Given the description of an element on the screen output the (x, y) to click on. 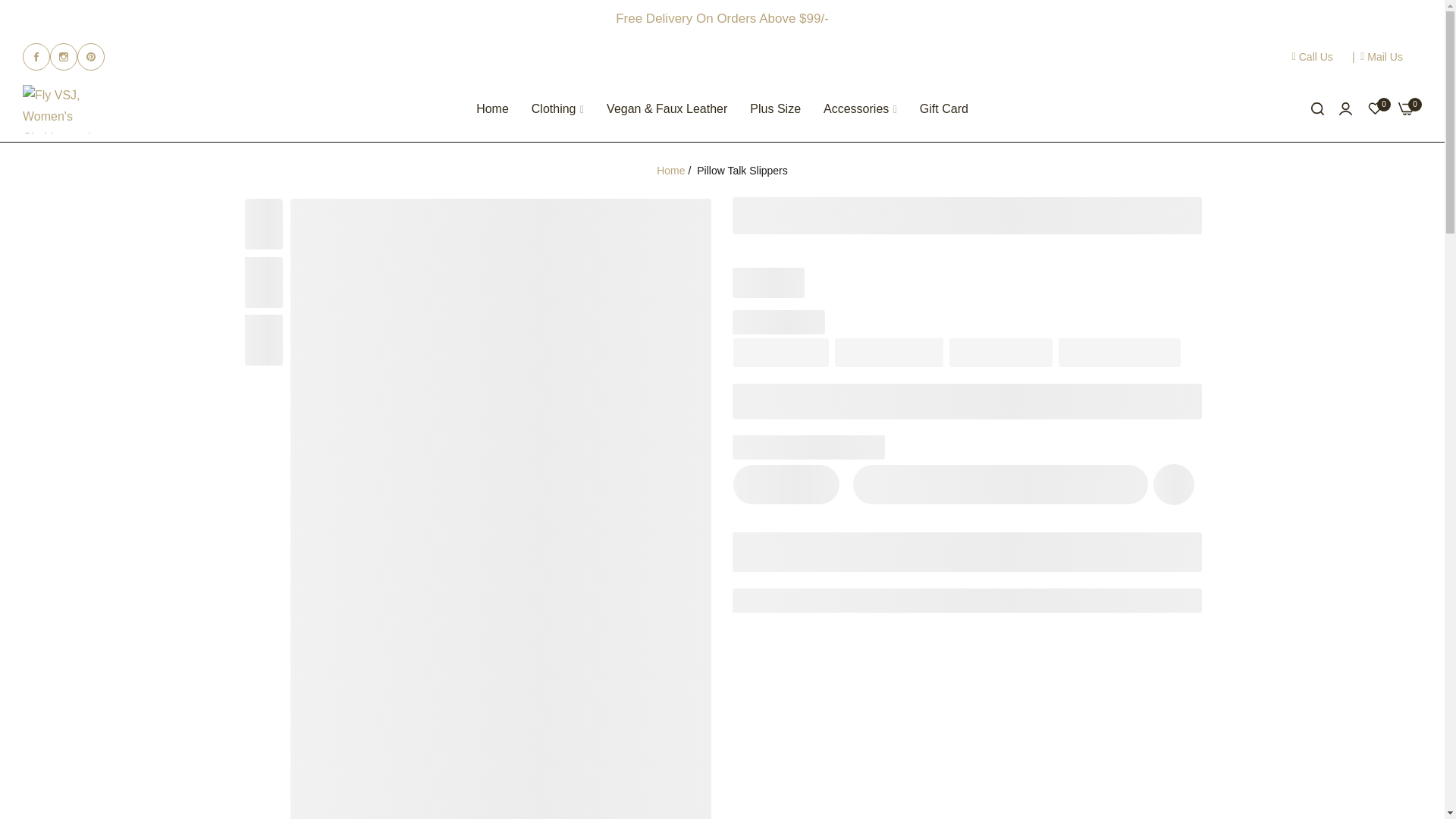
Clothing (557, 108)
1 (786, 484)
 Mail Us (1381, 57)
Minus (753, 483)
Fly VSJ, Women's Clothing and Fashion Accessories (61, 109)
Plus Size (775, 108)
Plus (818, 483)
Home (491, 108)
Accessories (860, 108)
 Call Us (1312, 57)
